Given the description of an element on the screen output the (x, y) to click on. 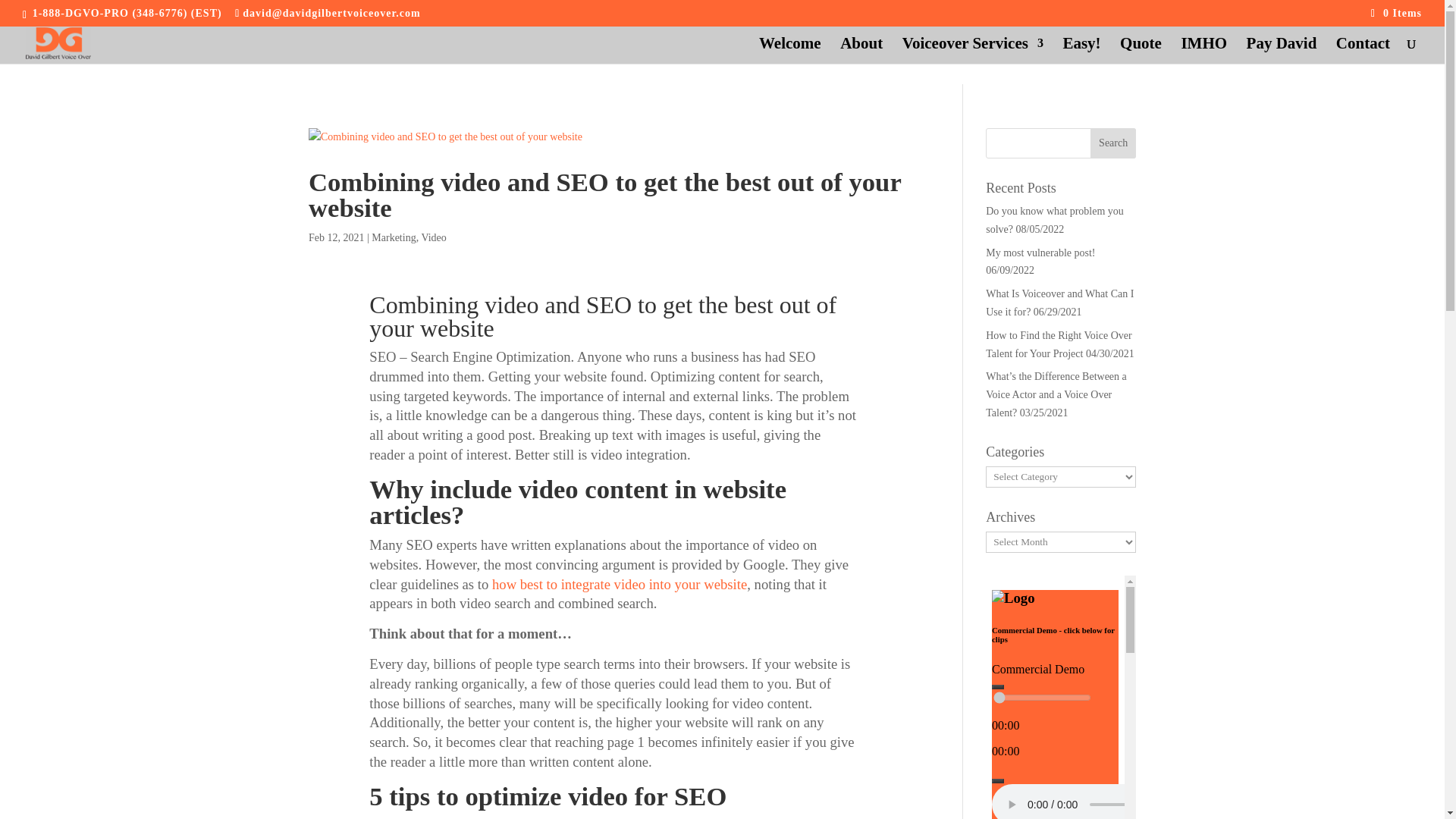
Pay David (1281, 50)
Search (1112, 142)
Contact (1363, 50)
How to Find the Right Voice Over Talent for Your Project (1058, 344)
Do you know what problem you solve? (1054, 220)
Welcome (789, 50)
how best to integrate video into your website (619, 584)
My most vulnerable post! (1039, 252)
About (861, 50)
What Is Voiceover and What Can I Use it for? (1059, 302)
